Given the description of an element on the screen output the (x, y) to click on. 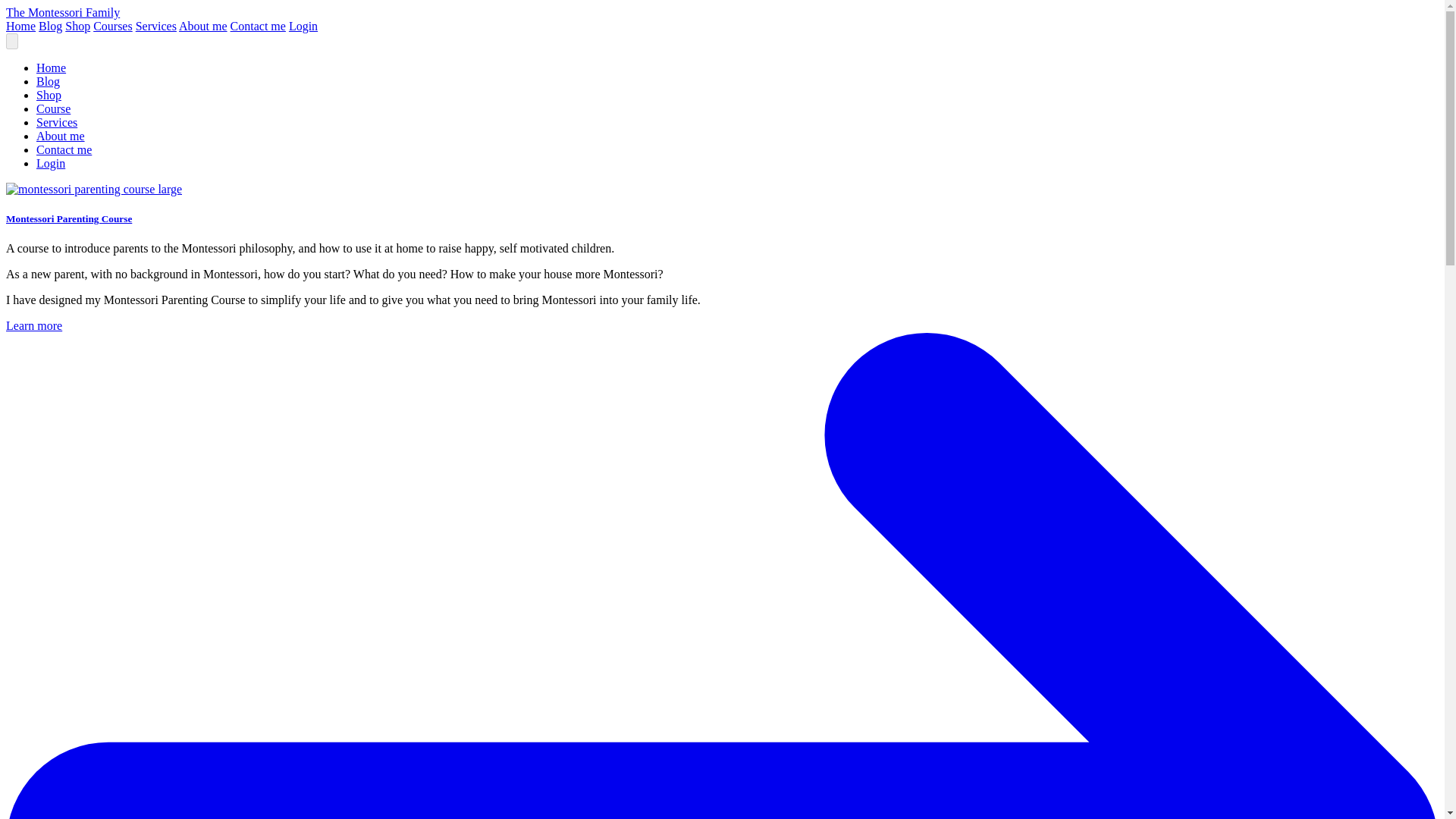
Course (52, 108)
Home (50, 67)
About me (60, 135)
Contact me (63, 149)
About me (203, 25)
Shop (48, 94)
Login (50, 163)
Contact me (257, 25)
Courses (112, 25)
Home (19, 25)
Blog (50, 25)
Services (155, 25)
Blog (47, 81)
The Montessori Family (62, 11)
Services (56, 122)
